Given the description of an element on the screen output the (x, y) to click on. 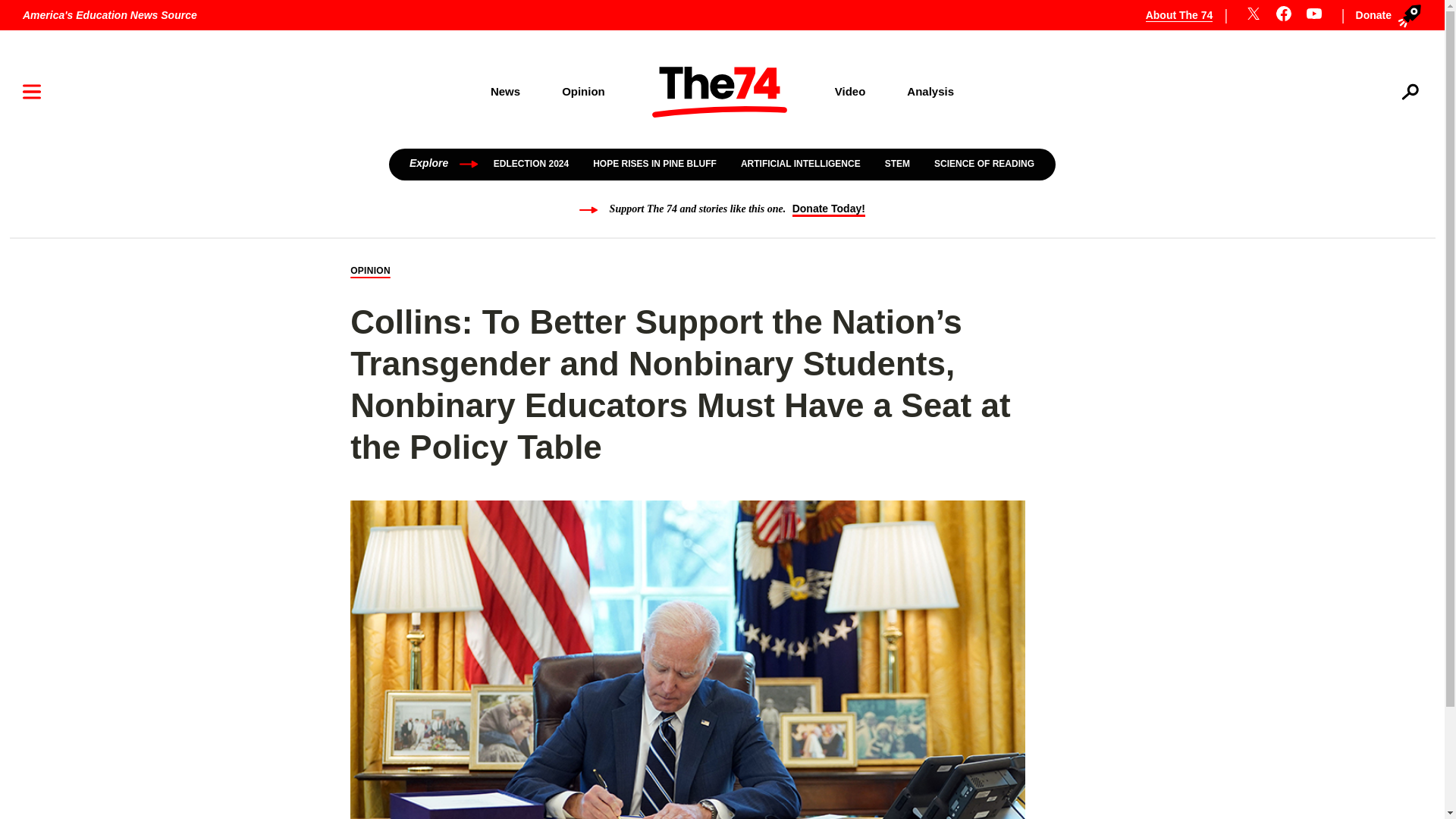
Home (719, 91)
Donate (1385, 15)
Submit (1389, 139)
Opinion (583, 91)
Analysis (930, 91)
News (504, 91)
Video (849, 91)
About The 74 (1187, 15)
America's Education News Source (109, 15)
